Given the description of an element on the screen output the (x, y) to click on. 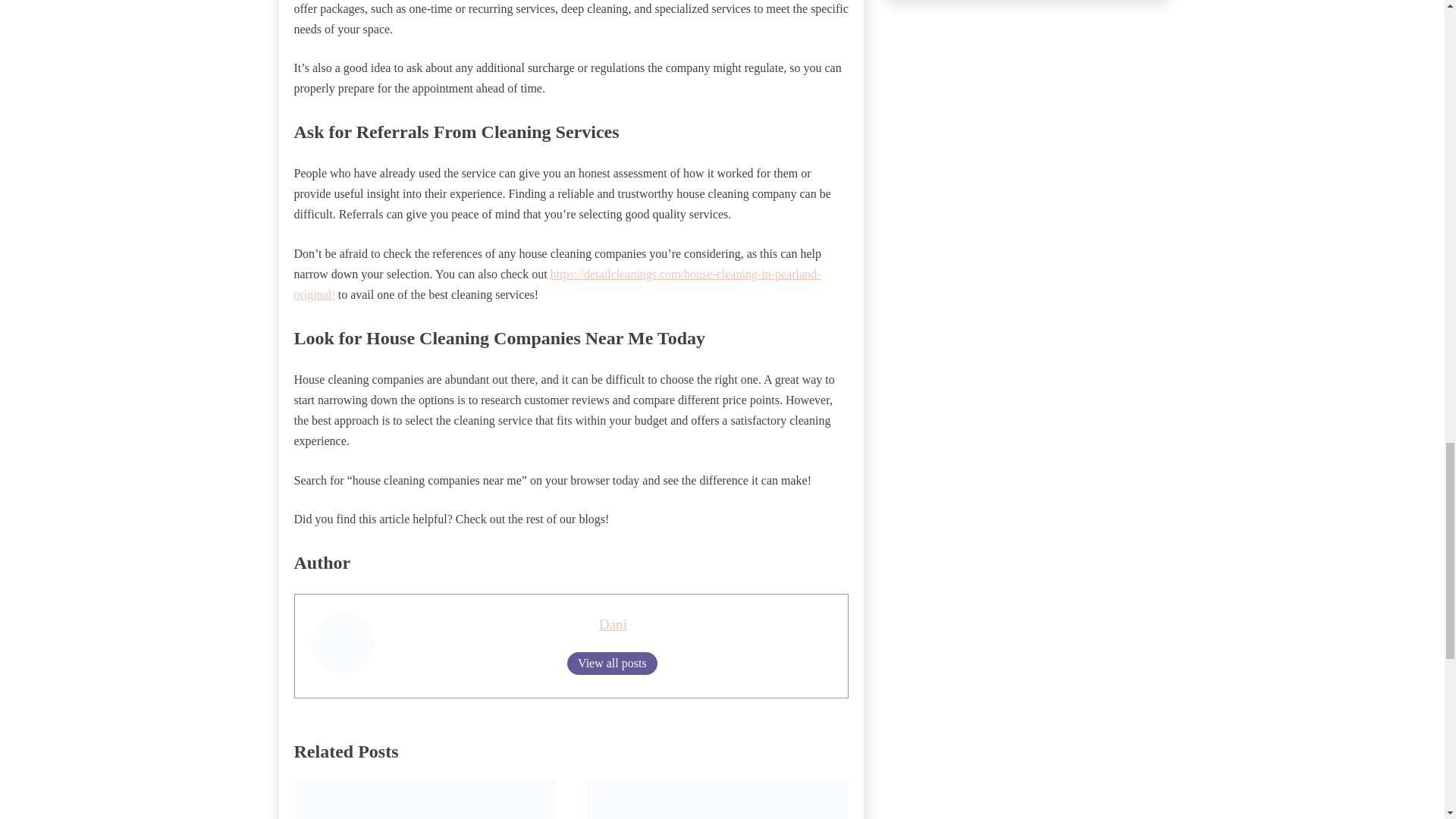
View all posts (612, 662)
Dani (612, 624)
Dani (612, 624)
View all posts (612, 662)
